Given the description of an element on the screen output the (x, y) to click on. 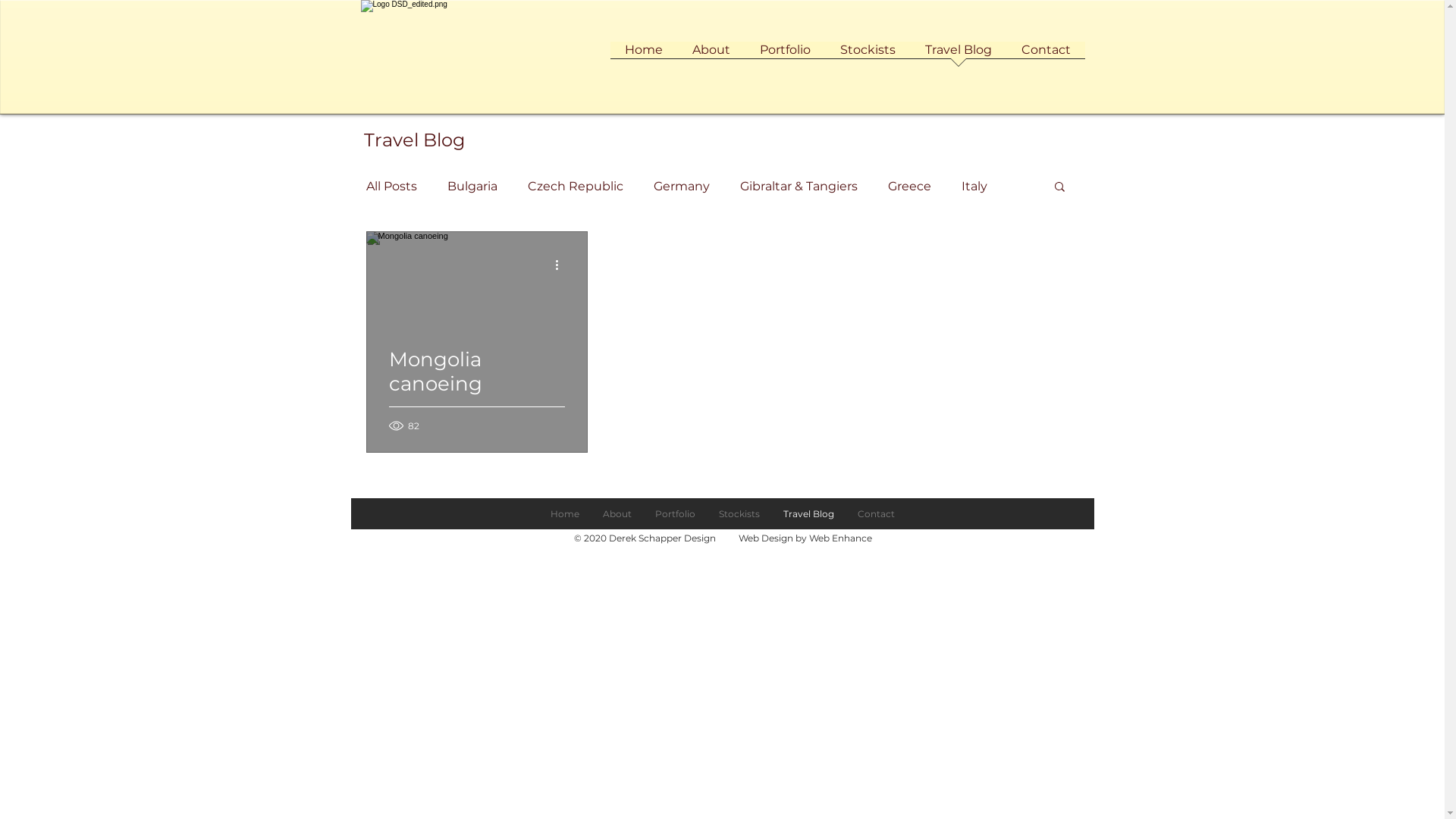
Germany Element type: text (681, 185)
Czech Republic Element type: text (575, 185)
About Element type: text (711, 54)
Portfolio Element type: text (784, 54)
Gibraltar & Tangiers Element type: text (798, 185)
Home Element type: text (643, 54)
All Posts Element type: text (390, 185)
About Element type: text (616, 513)
Mongolia canoeing Element type: text (476, 389)
Bulgaria Element type: text (472, 185)
Greece Element type: text (908, 185)
Travel Blog Element type: text (808, 513)
Portfolio Element type: text (674, 513)
Italy Element type: text (974, 185)
Travel Blog Element type: text (958, 54)
Stockists Element type: text (867, 54)
Contact Element type: text (1046, 54)
Contact Element type: text (875, 513)
Travel Blog Element type: text (414, 139)
Home Element type: text (564, 513)
Stockists Element type: text (738, 513)
